Given the description of an element on the screen output the (x, y) to click on. 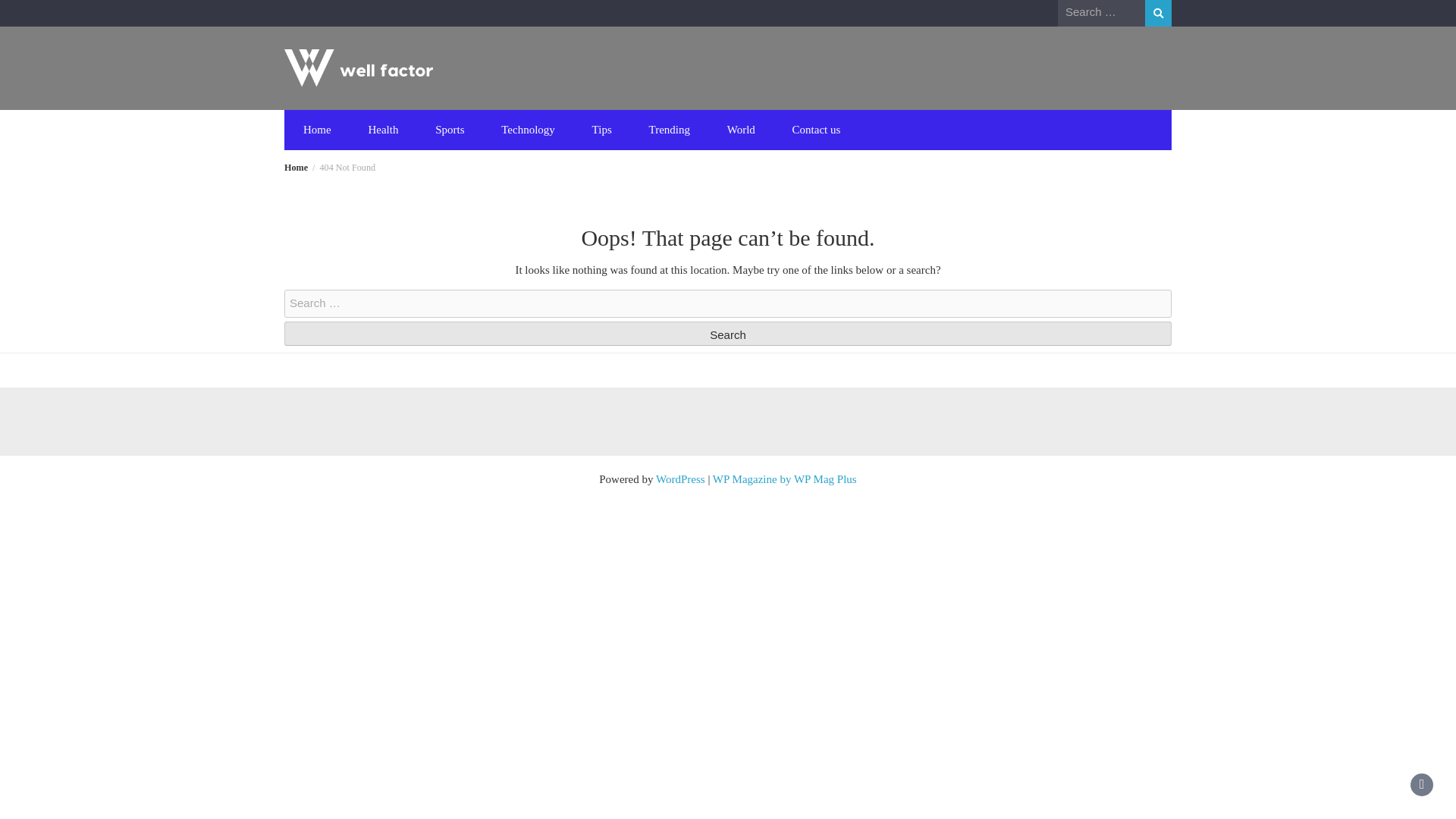
Search (1158, 13)
Search (727, 333)
Trending (668, 129)
Search (727, 333)
Home (295, 167)
Technology (528, 129)
Search for: (1101, 12)
Home (317, 129)
Contact us (816, 129)
Search (727, 333)
